Given the description of an element on the screen output the (x, y) to click on. 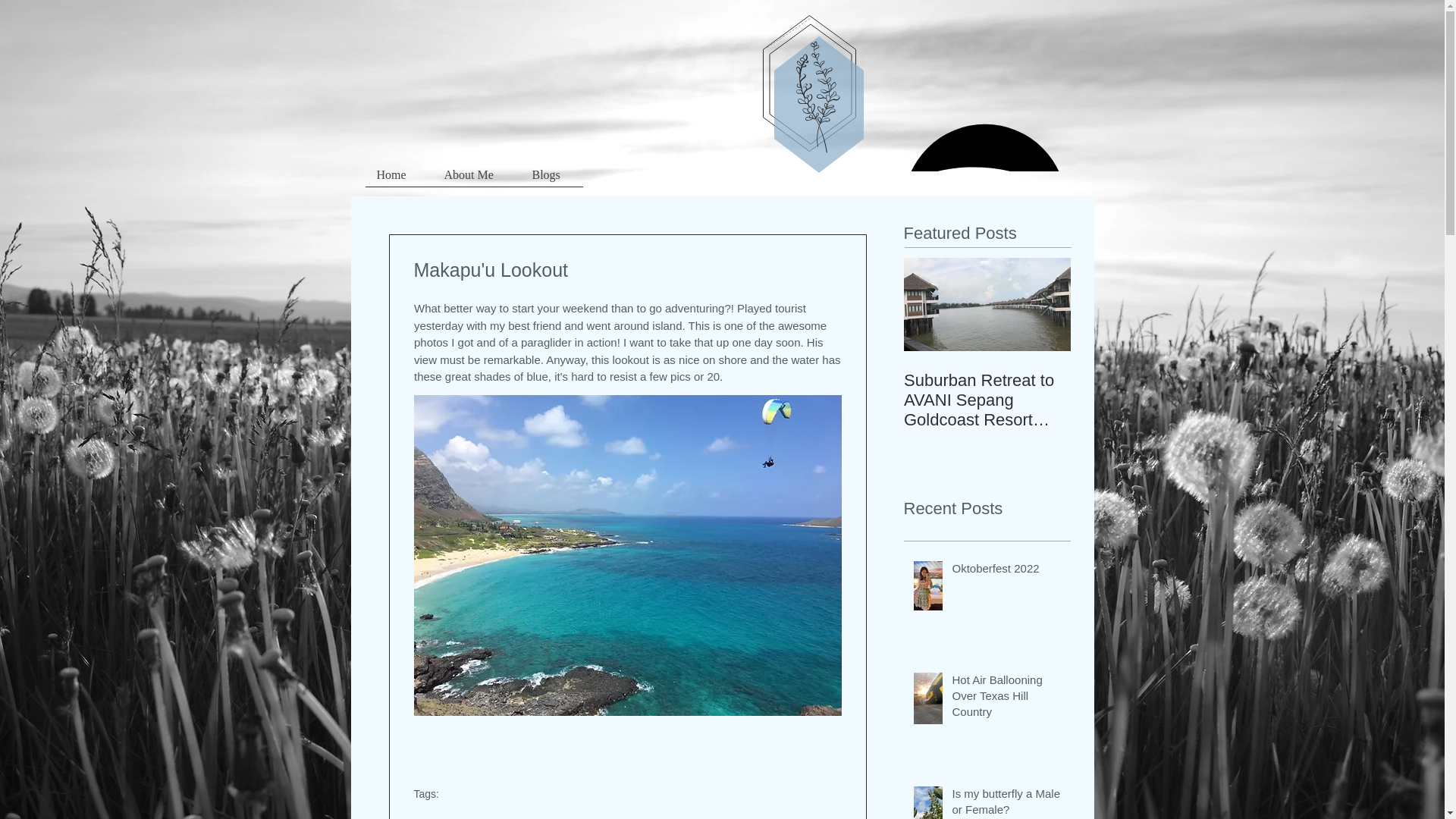
Spotify Player (984, 141)
About Me (475, 179)
makapuulookout (553, 818)
Hobbiton Tour from Auckland, New Zealand (1153, 400)
Adventure (439, 818)
Hawaii (621, 818)
Oahu (488, 818)
Is my butterfly a Male or Female? (1006, 802)
Oktoberfest 2022 (1006, 571)
Spotify Player (984, 140)
Hot Air Ballooning Over Texas Hill Country (1006, 698)
Home (398, 179)
